Given the description of an element on the screen output the (x, y) to click on. 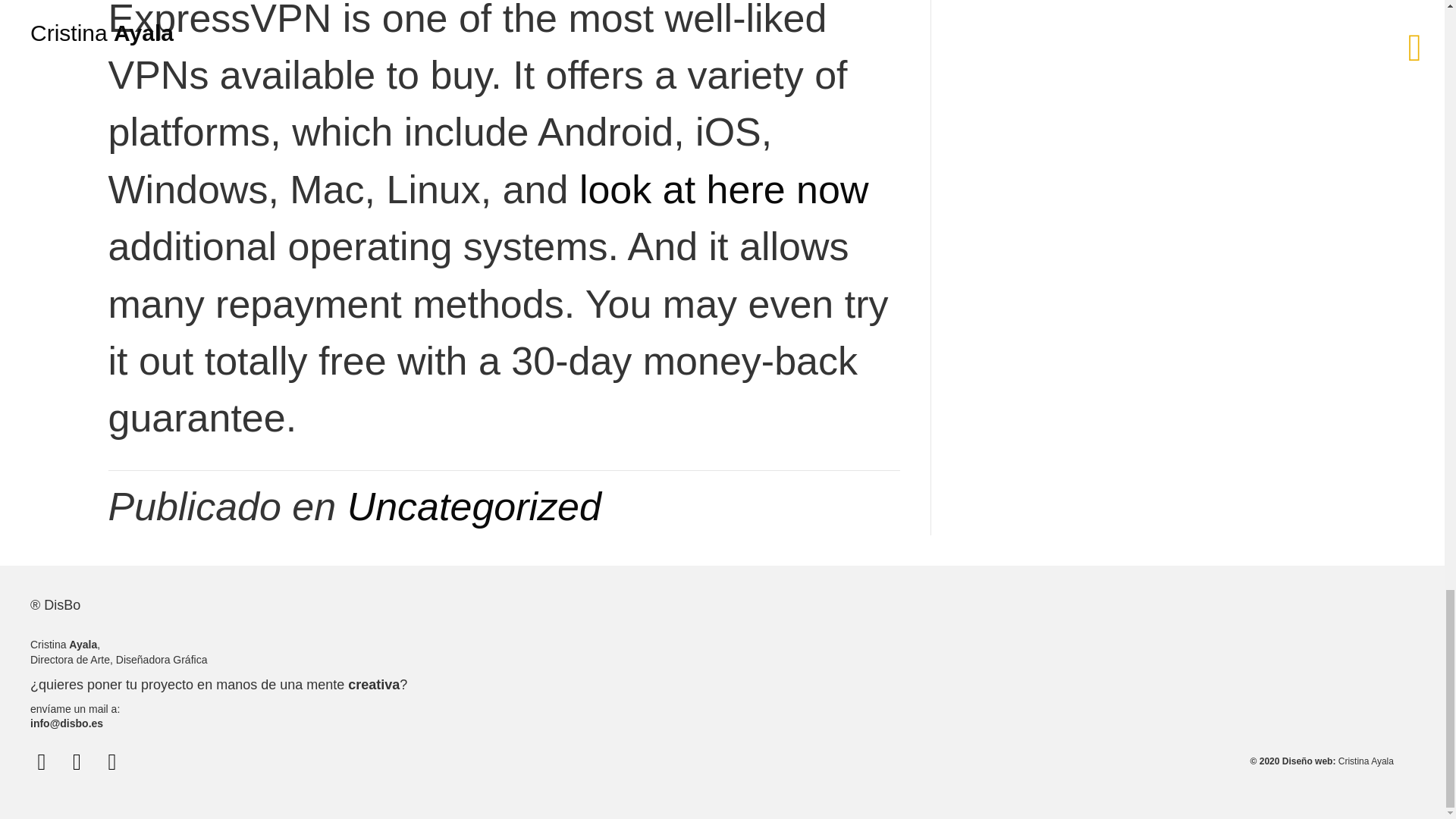
Vimeo (41, 762)
look at here now (724, 189)
LinkedIn (111, 762)
Instagram (76, 762)
Uncategorized (474, 506)
